Given the description of an element on the screen output the (x, y) to click on. 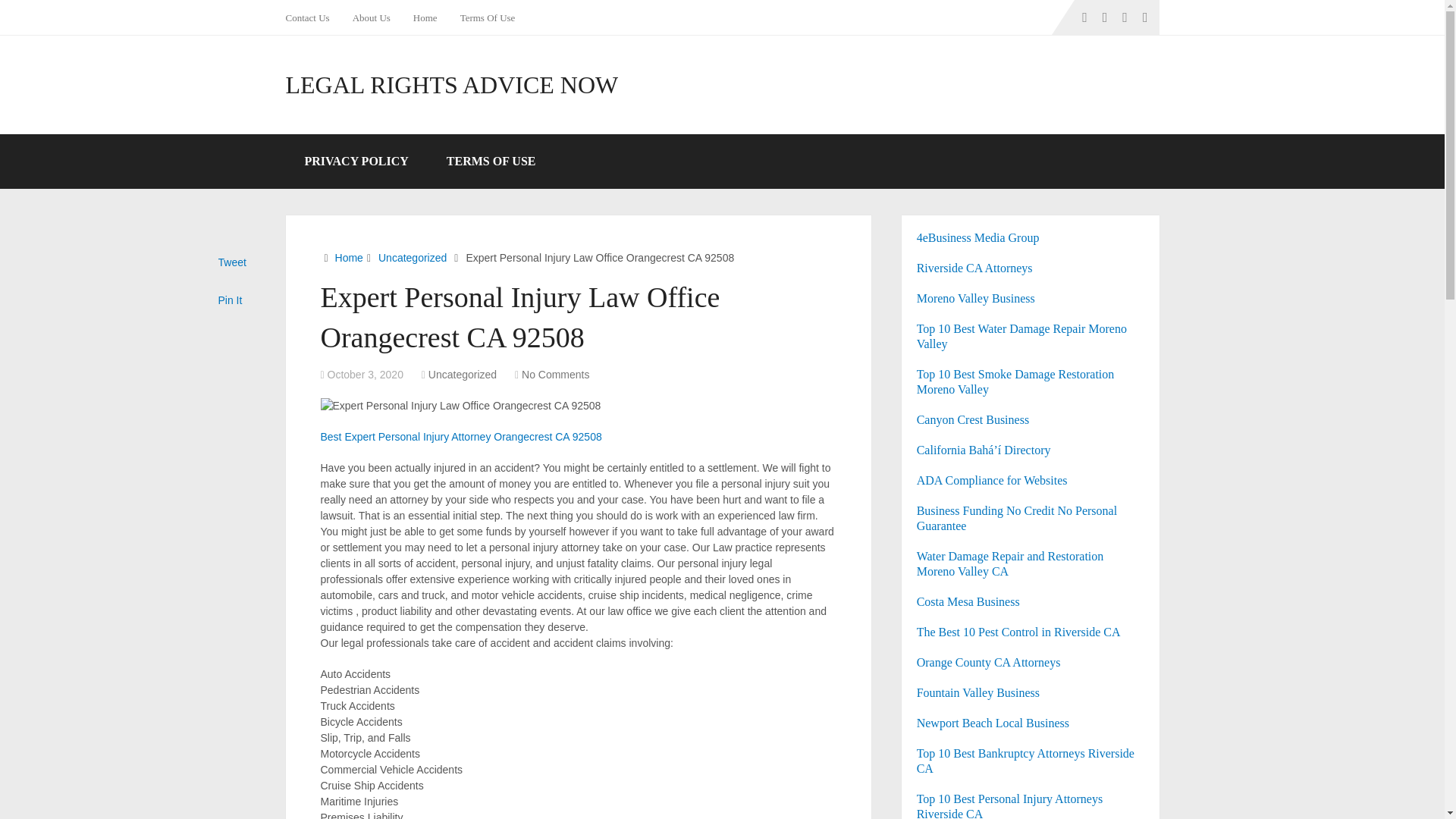
Top 10 Best Smoke Damage Restoration Moreno Valley (1016, 381)
LEGAL RIGHTS ADVICE NOW (451, 84)
No Comments (555, 374)
Uncategorized (462, 374)
Terms Of Use (487, 17)
PRIVACY POLICY (355, 161)
4eBusiness Media Group (978, 237)
Tweet (232, 262)
TERMS OF USE (491, 161)
About Us (370, 17)
Home (424, 17)
Pin It (230, 300)
Contact Us (312, 17)
Moreno Valley Business (976, 297)
Top 10 Best Water Damage Repair Moreno Valley (1021, 336)
